Given the description of an element on the screen output the (x, y) to click on. 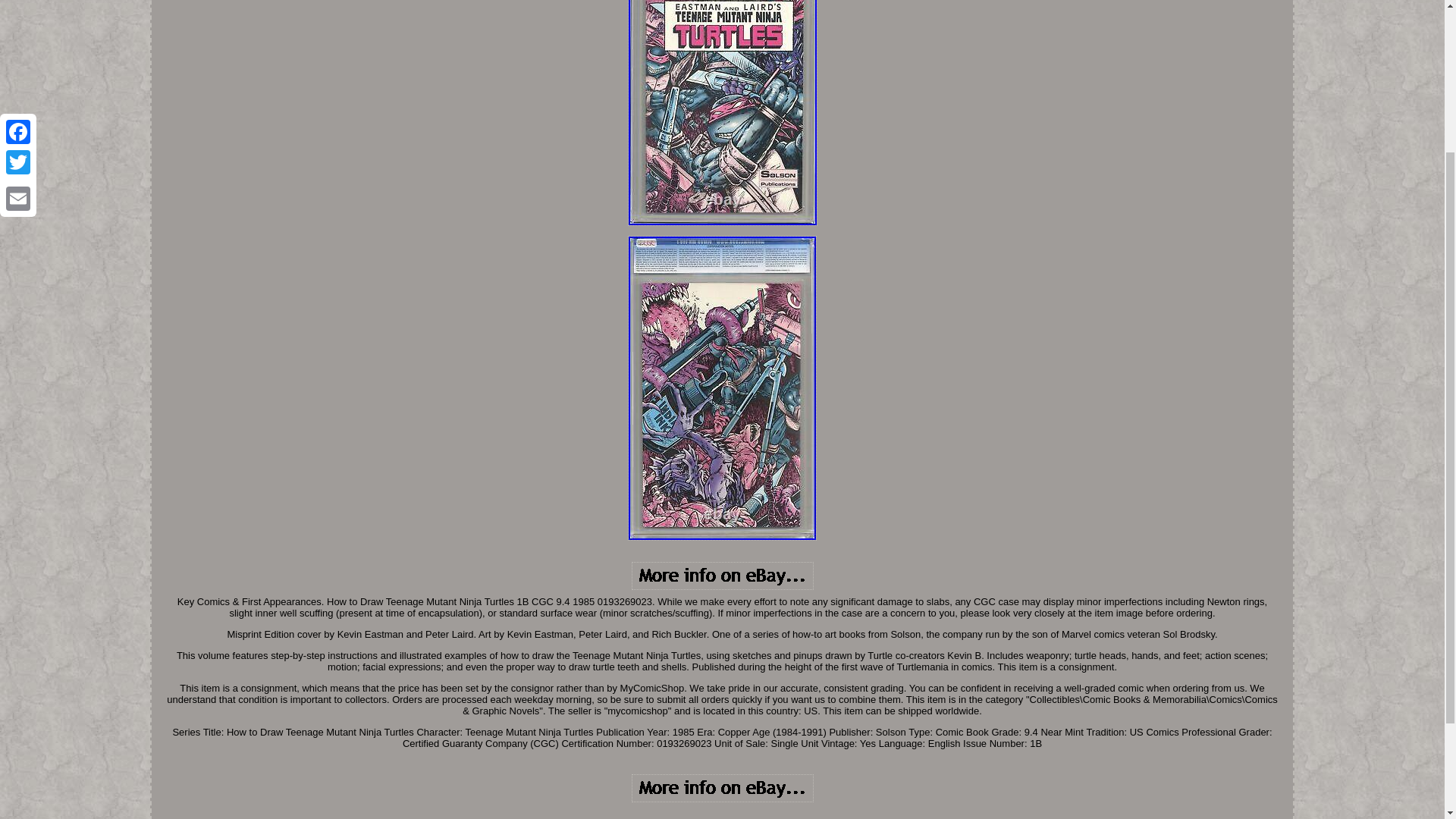
Email (17, 5)
